Given the description of an element on the screen output the (x, y) to click on. 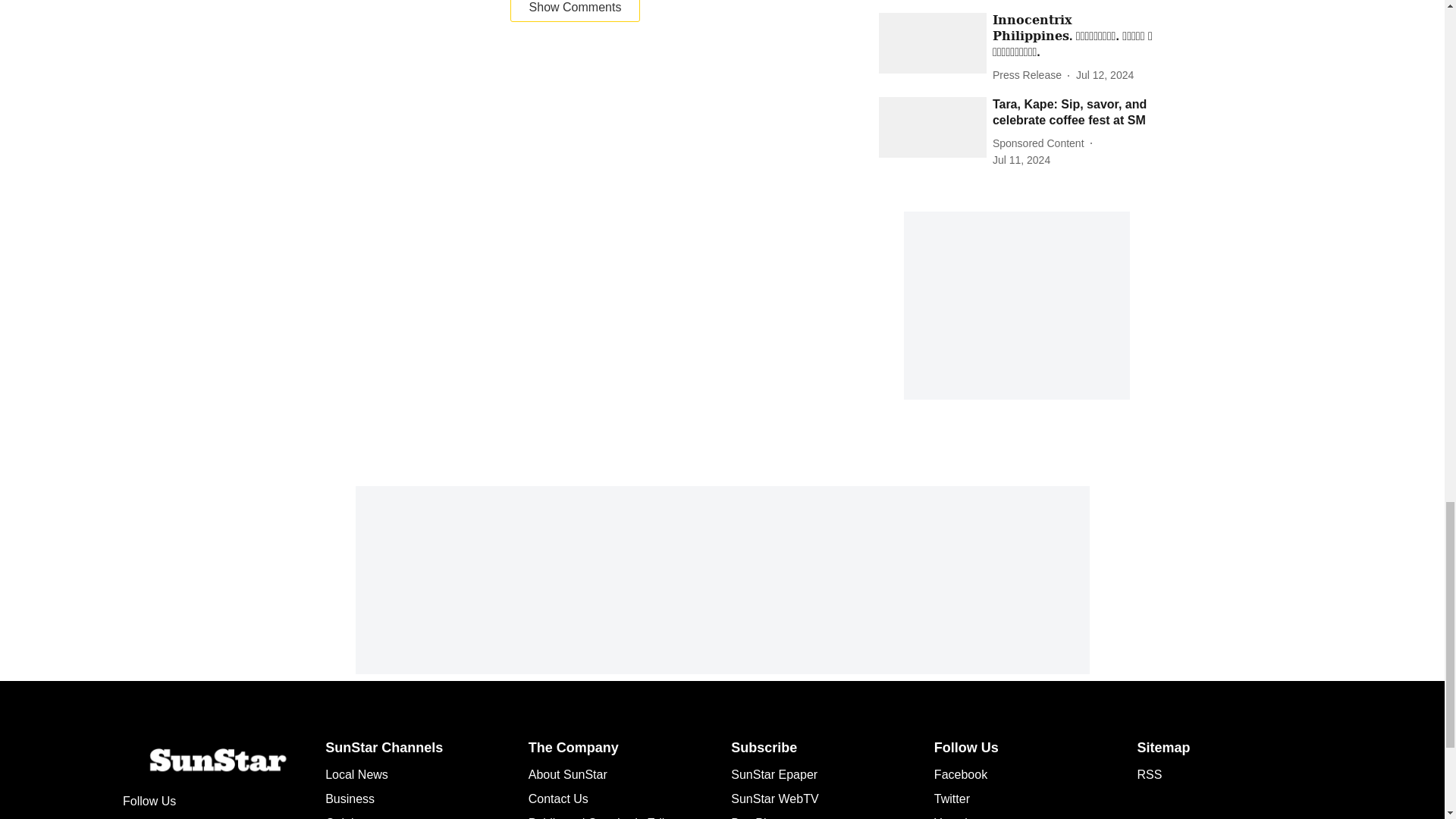
2024-07-11 00:59 (1020, 160)
Show Comments (575, 11)
2024-07-12 02:00 (1104, 75)
